Given the description of an element on the screen output the (x, y) to click on. 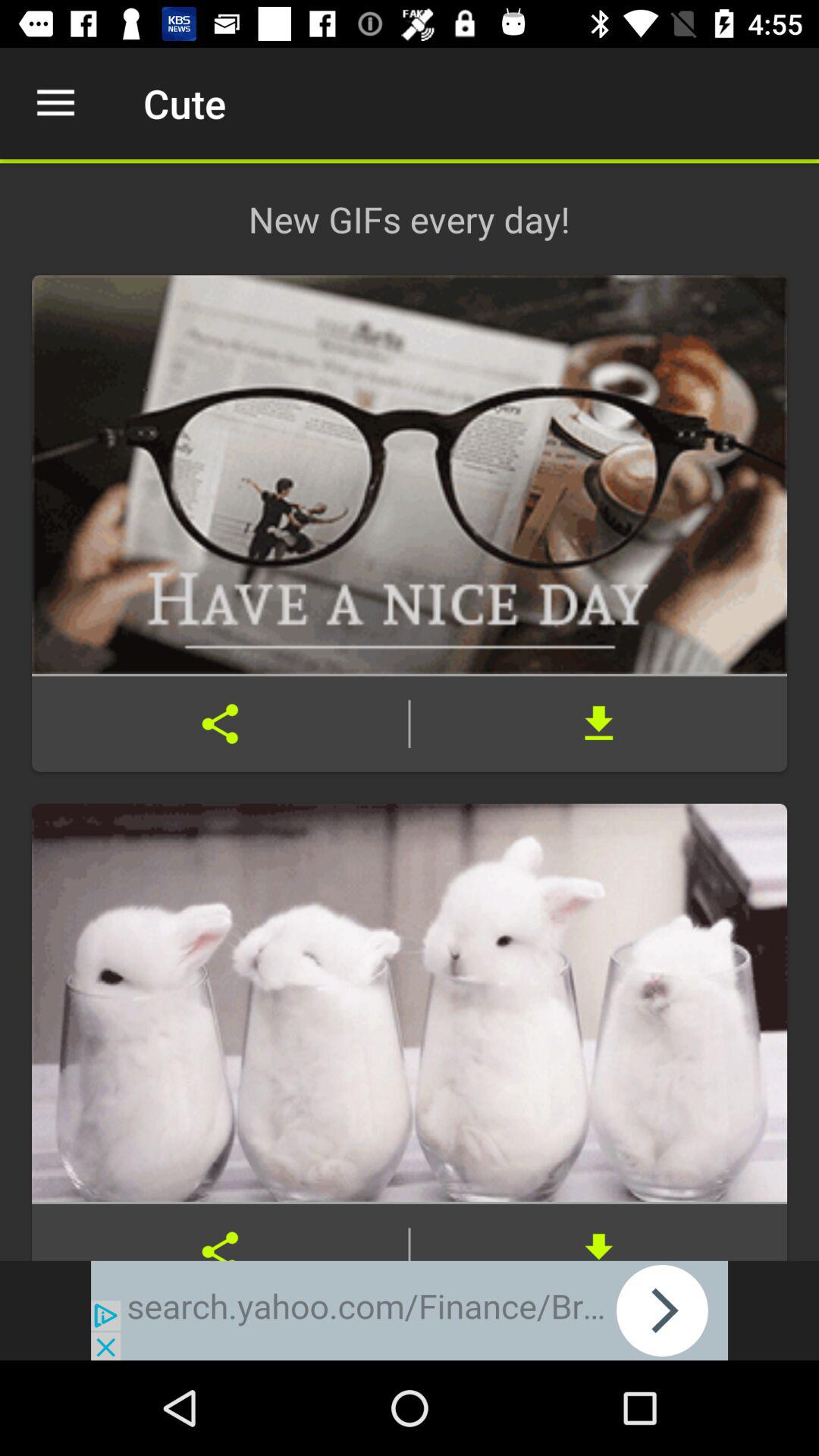
go to download (598, 723)
